Given the description of an element on the screen output the (x, y) to click on. 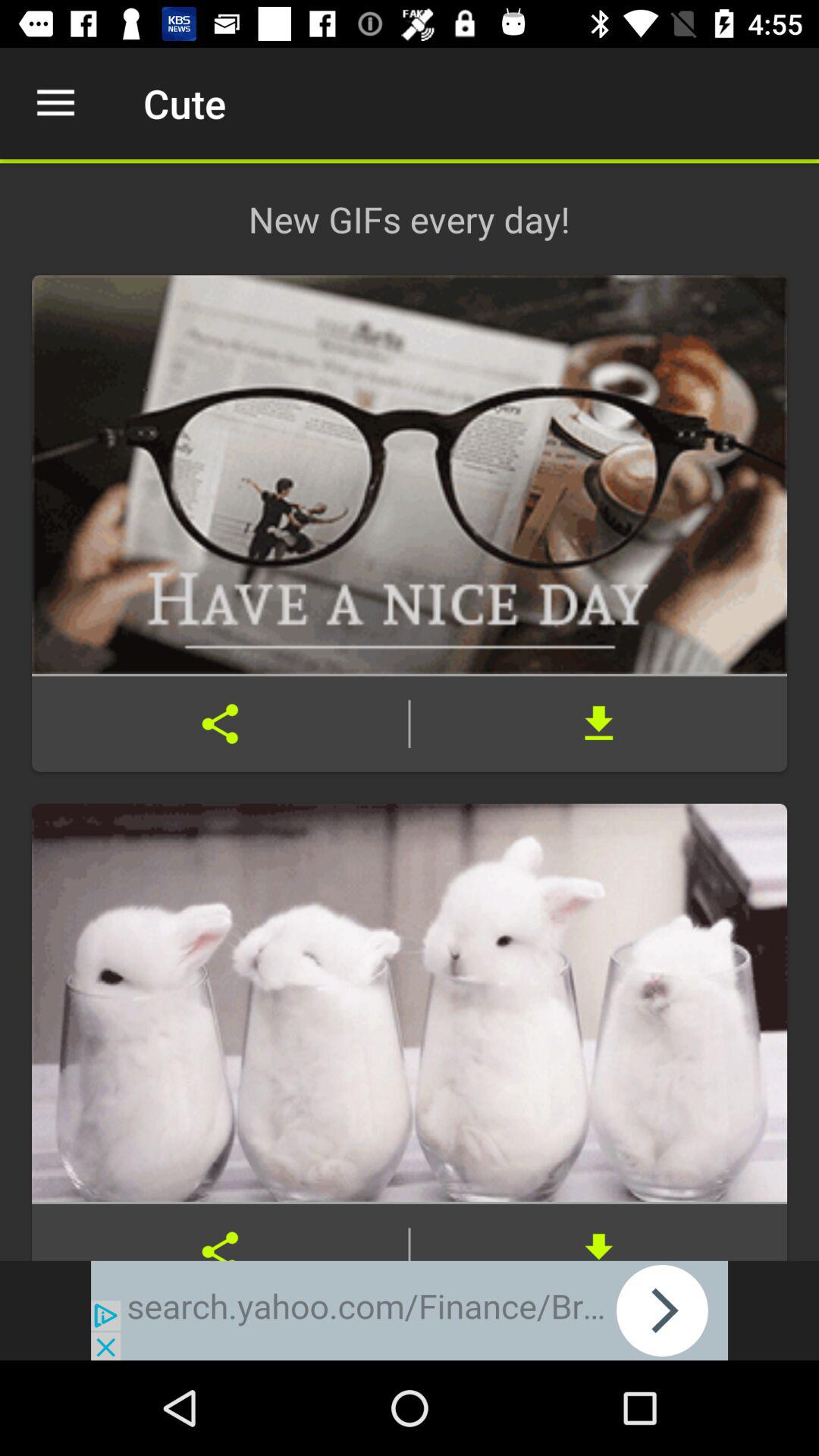
go to download (598, 723)
